Given the description of an element on the screen output the (x, y) to click on. 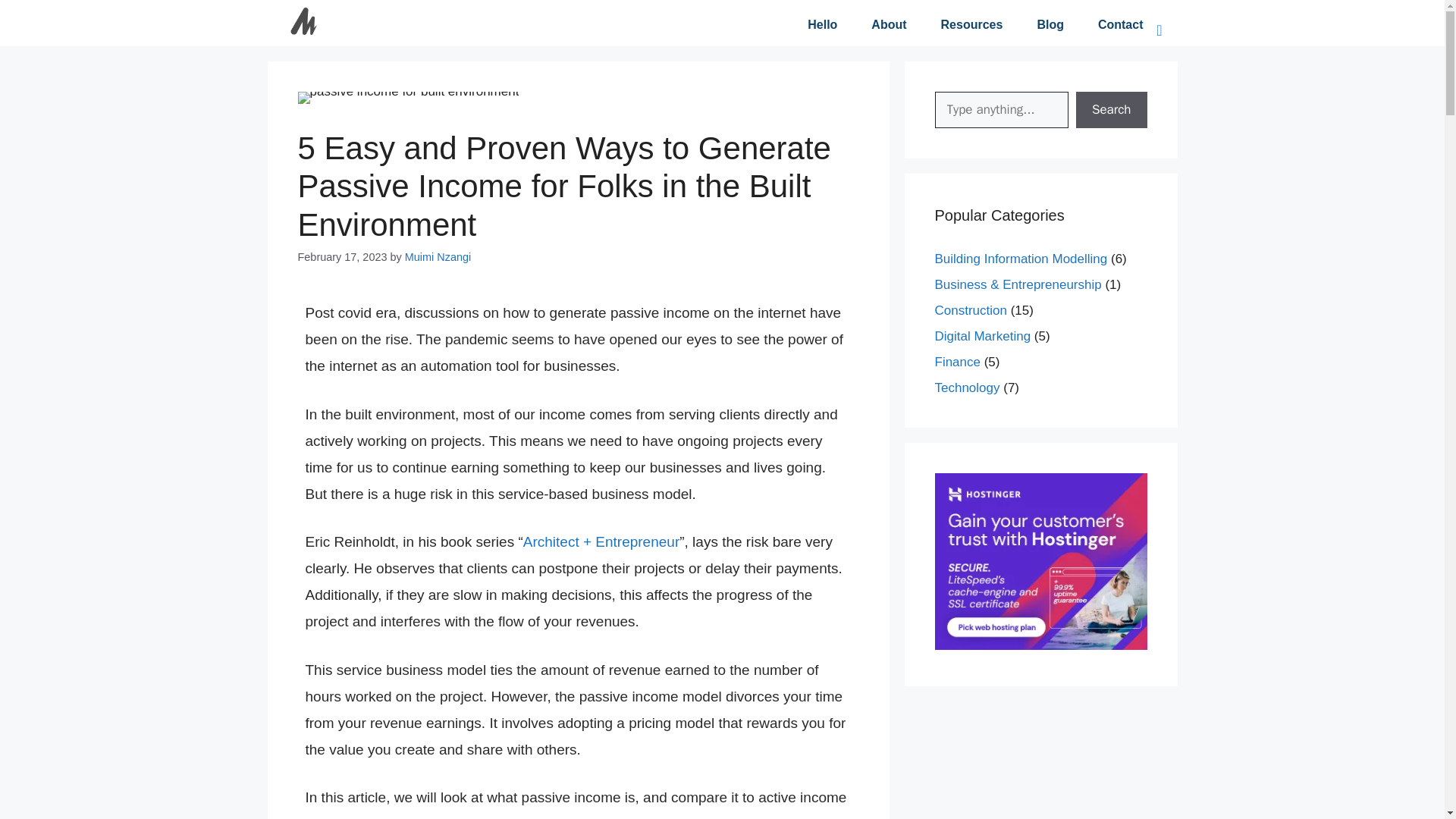
Blog (1050, 24)
Hello (822, 24)
Contact (1120, 24)
Construction (970, 310)
Finance (956, 361)
Technology (966, 387)
Muimi Nzangi (437, 256)
About (888, 24)
Resources (972, 24)
View all posts by Muimi Nzangi (437, 256)
Building Information Modelling (1020, 258)
Search (1111, 109)
Digital Marketing (982, 336)
